Given the description of an element on the screen output the (x, y) to click on. 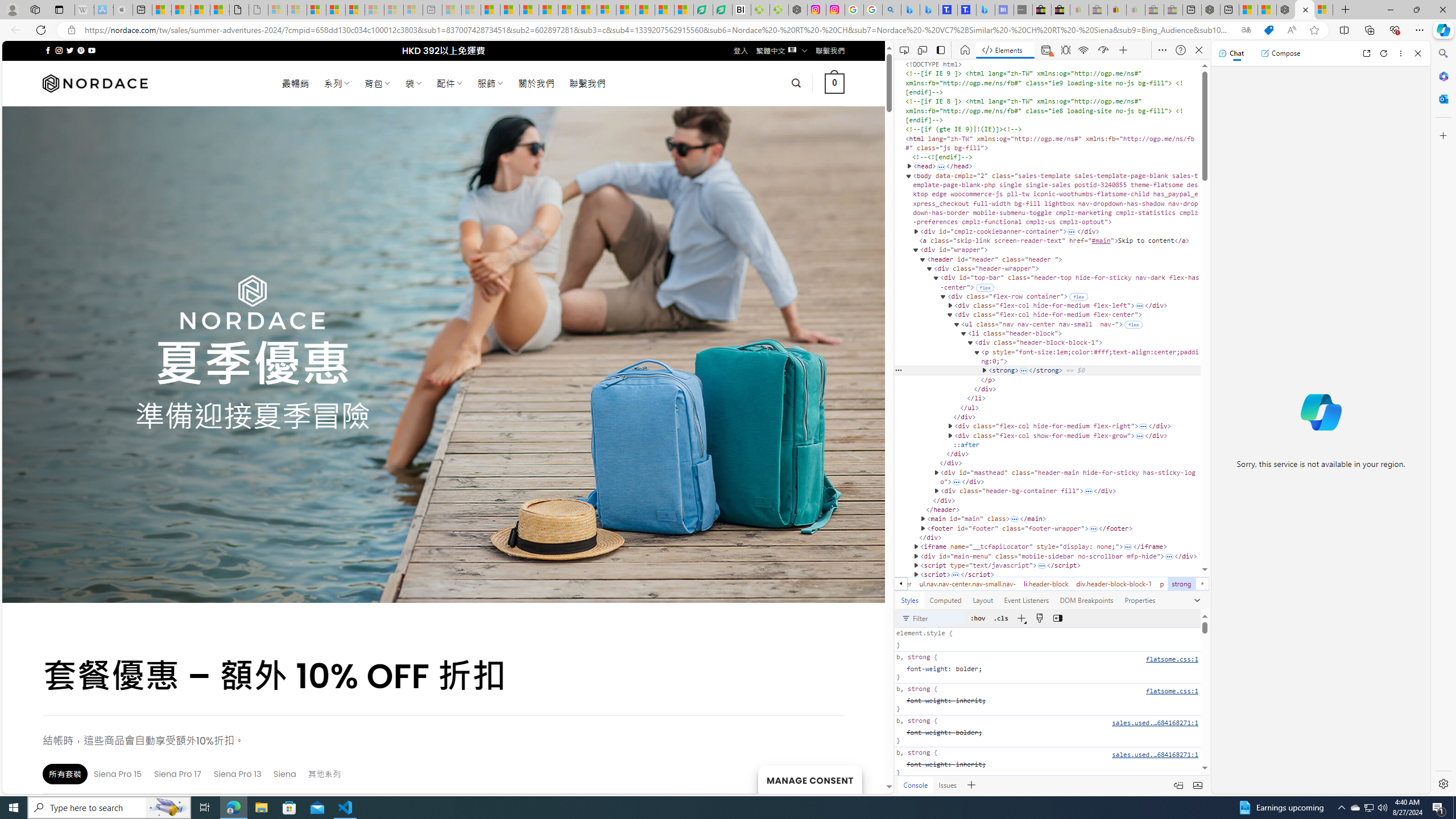
Welcome (965, 49)
The importance of being lazy (1267, 9)
Shangri-La Bangkok, Hotel reviews and Room rates (966, 9)
Move Activity Bar to left (941, 49)
Toggle common rendering emulations (1039, 617)
